Given the description of an element on the screen output the (x, y) to click on. 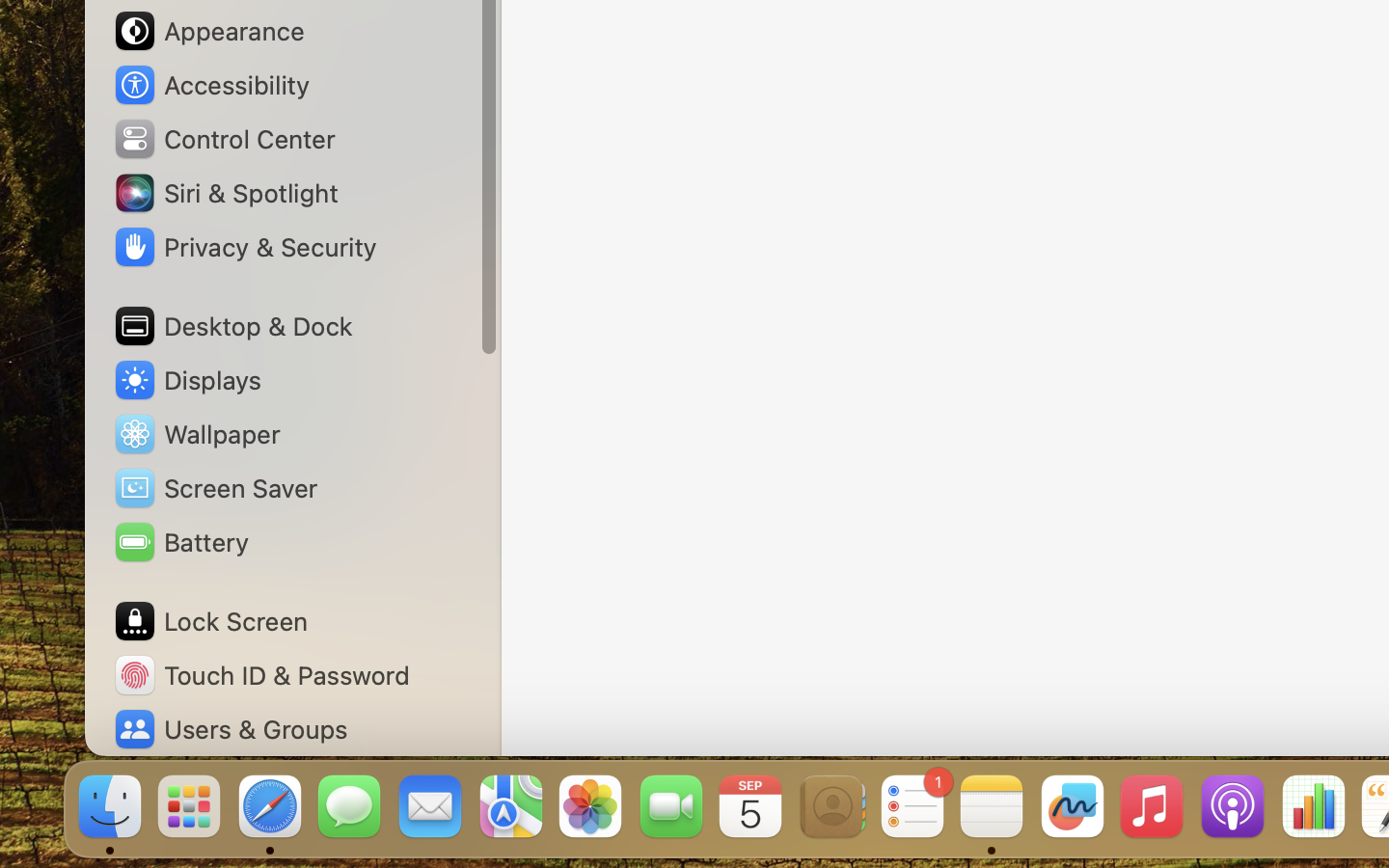
Siri & Spotlight Element type: AXStaticText (224, 192)
Desktop & Dock Element type: AXStaticText (232, 325)
Users & Groups Element type: AXStaticText (229, 728)
